Given the description of an element on the screen output the (x, y) to click on. 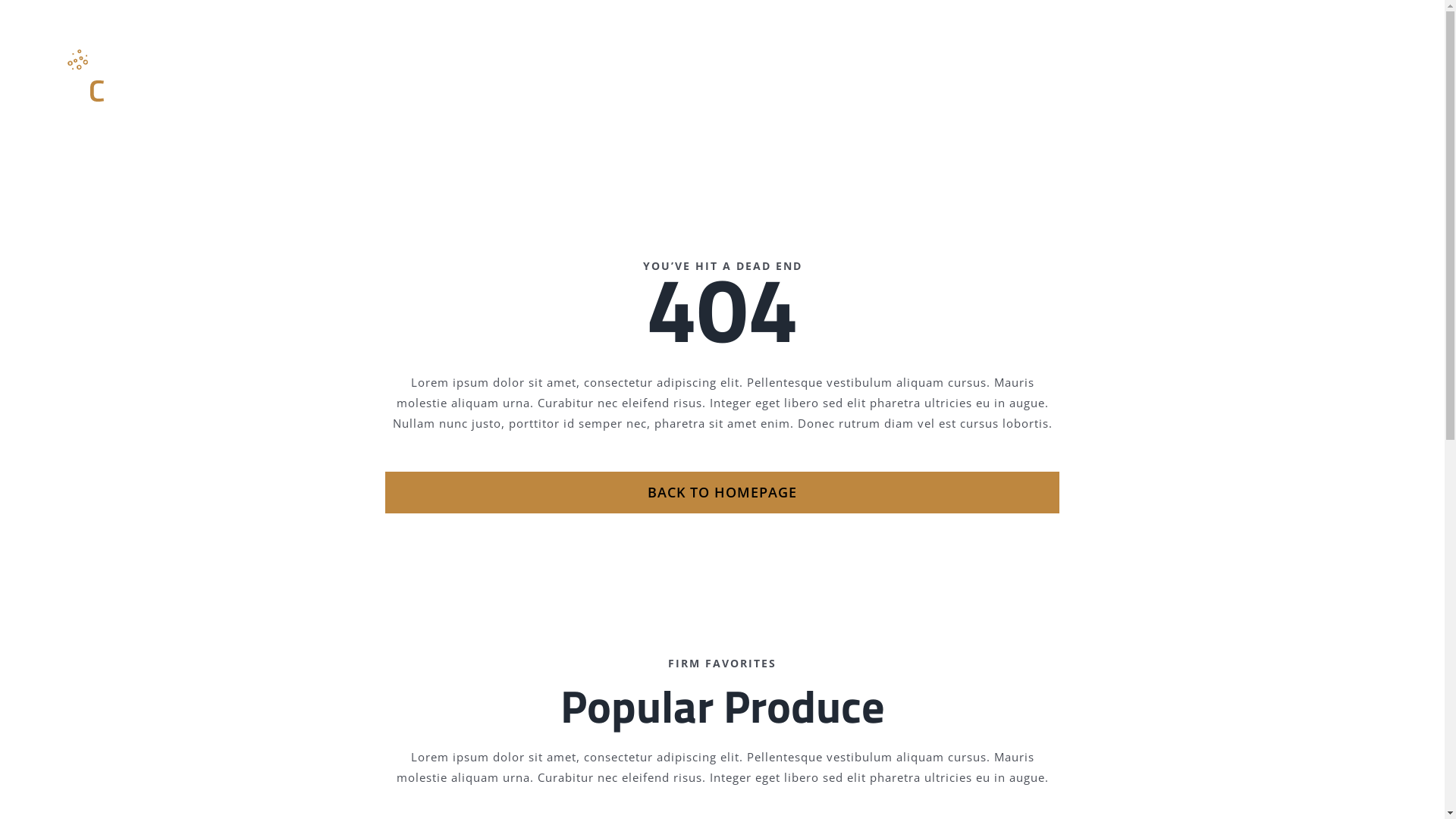
BACK TO HOMEPAGE Element type: text (721, 492)
